Given the description of an element on the screen output the (x, y) to click on. 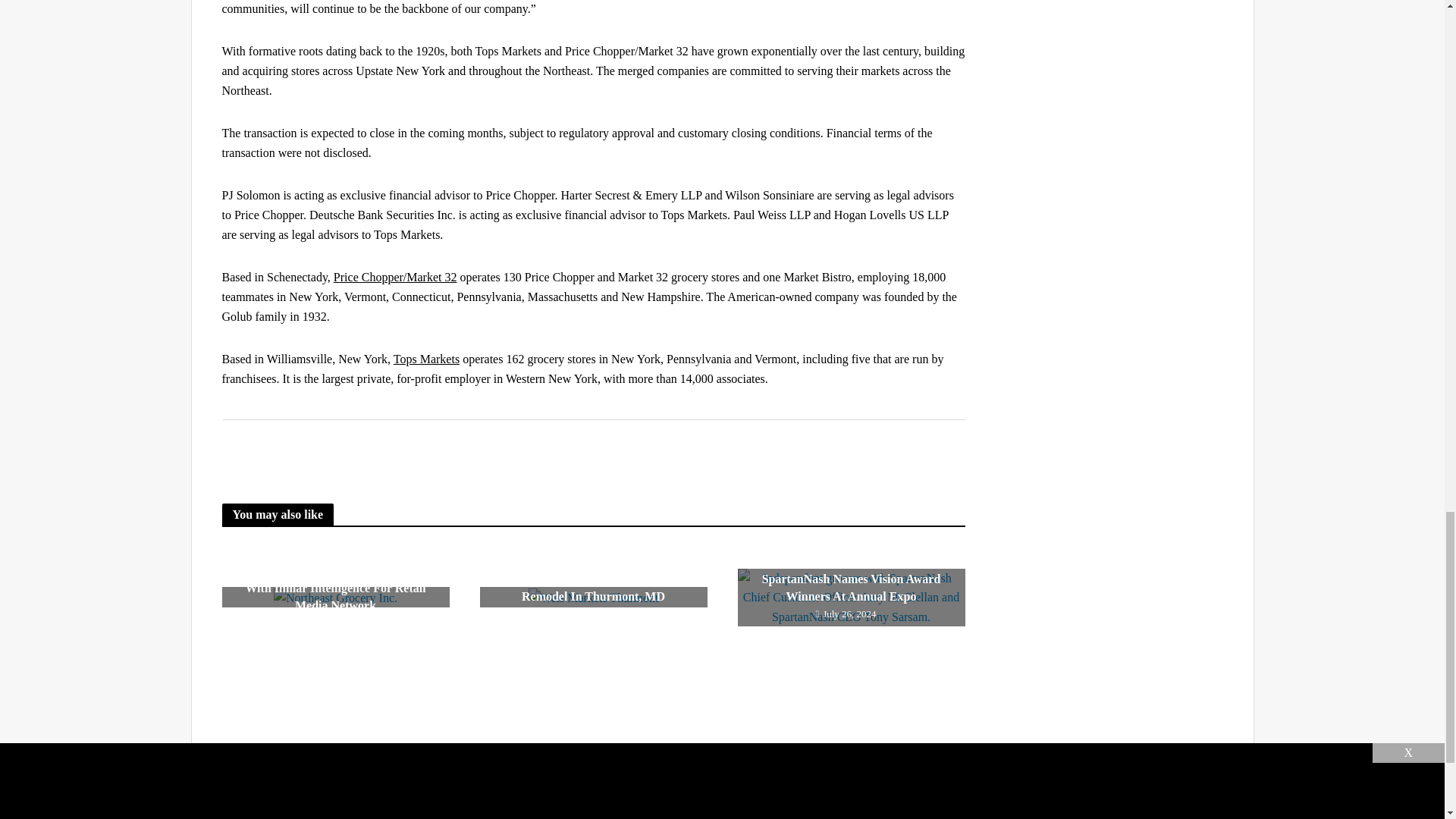
SpartanNash Names Vision Award Winners At Annual Expo (849, 597)
Weis Markets Celebrates Store Remodel In Thurmont, MD (592, 597)
